Given the description of an element on the screen output the (x, y) to click on. 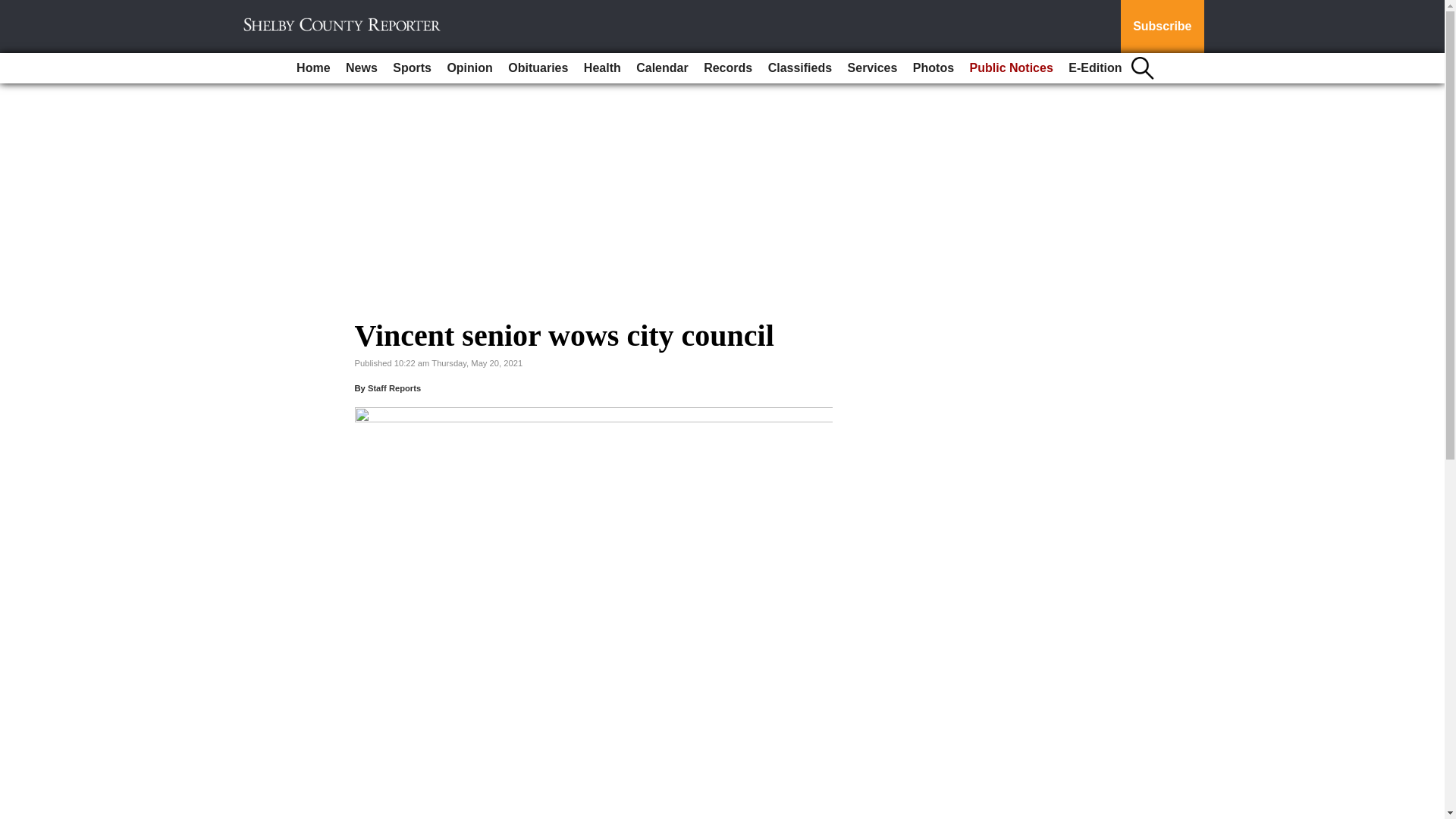
Opinion (469, 68)
Services (872, 68)
Records (727, 68)
News (361, 68)
Health (602, 68)
Calendar (662, 68)
Sports (412, 68)
Obituaries (537, 68)
Classifieds (799, 68)
Subscribe (1162, 26)
